Given the description of an element on the screen output the (x, y) to click on. 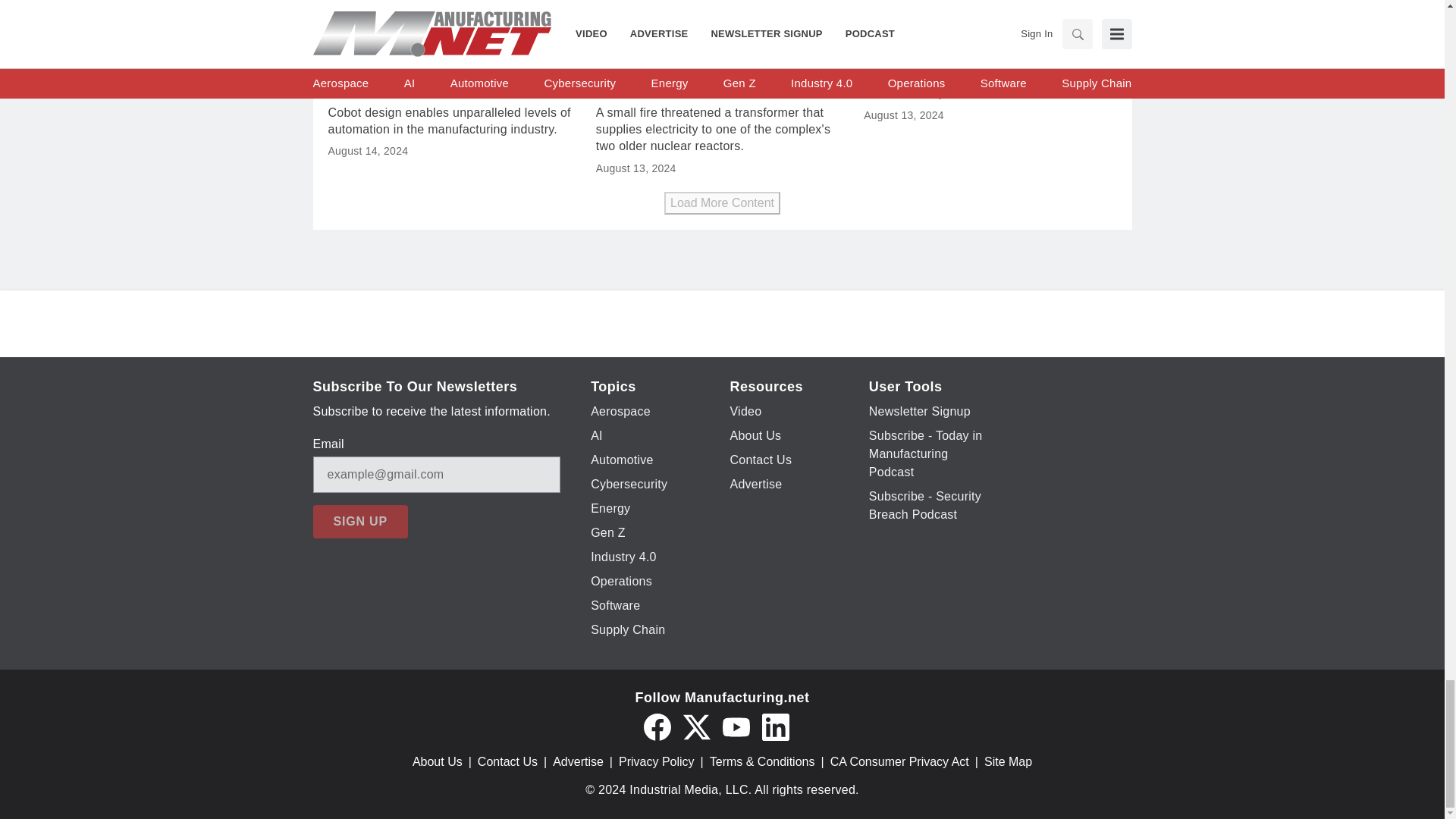
Twitter X icon (696, 727)
Facebook icon (656, 727)
YouTube icon (735, 727)
LinkedIn icon (775, 727)
